Given the description of an element on the screen output the (x, y) to click on. 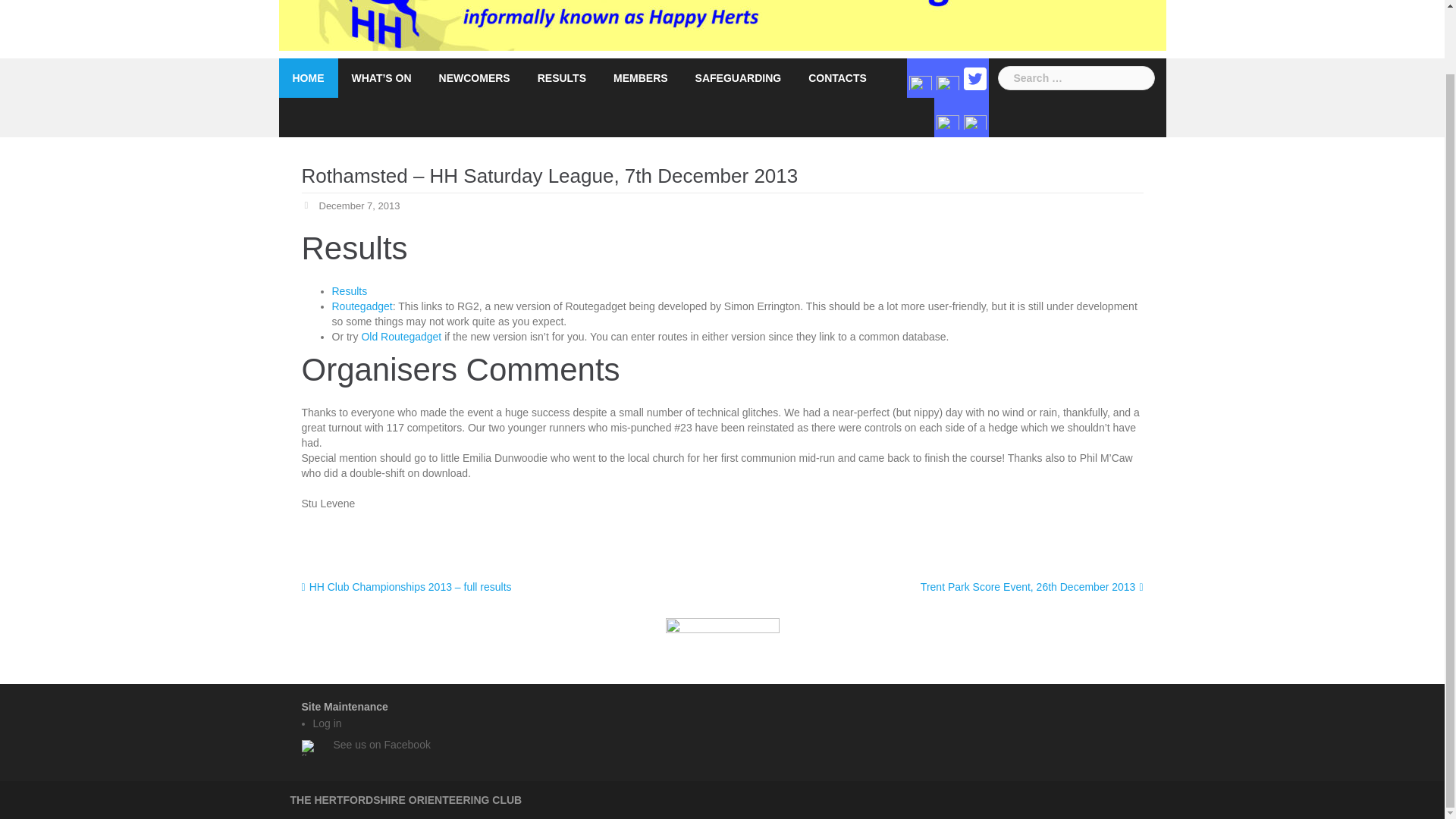
MEMBERS (640, 77)
RESULTS (561, 77)
See us on Facebook (381, 744)
NEWCOMERS (475, 77)
HH RG2 (362, 306)
